Given the description of an element on the screen output the (x, y) to click on. 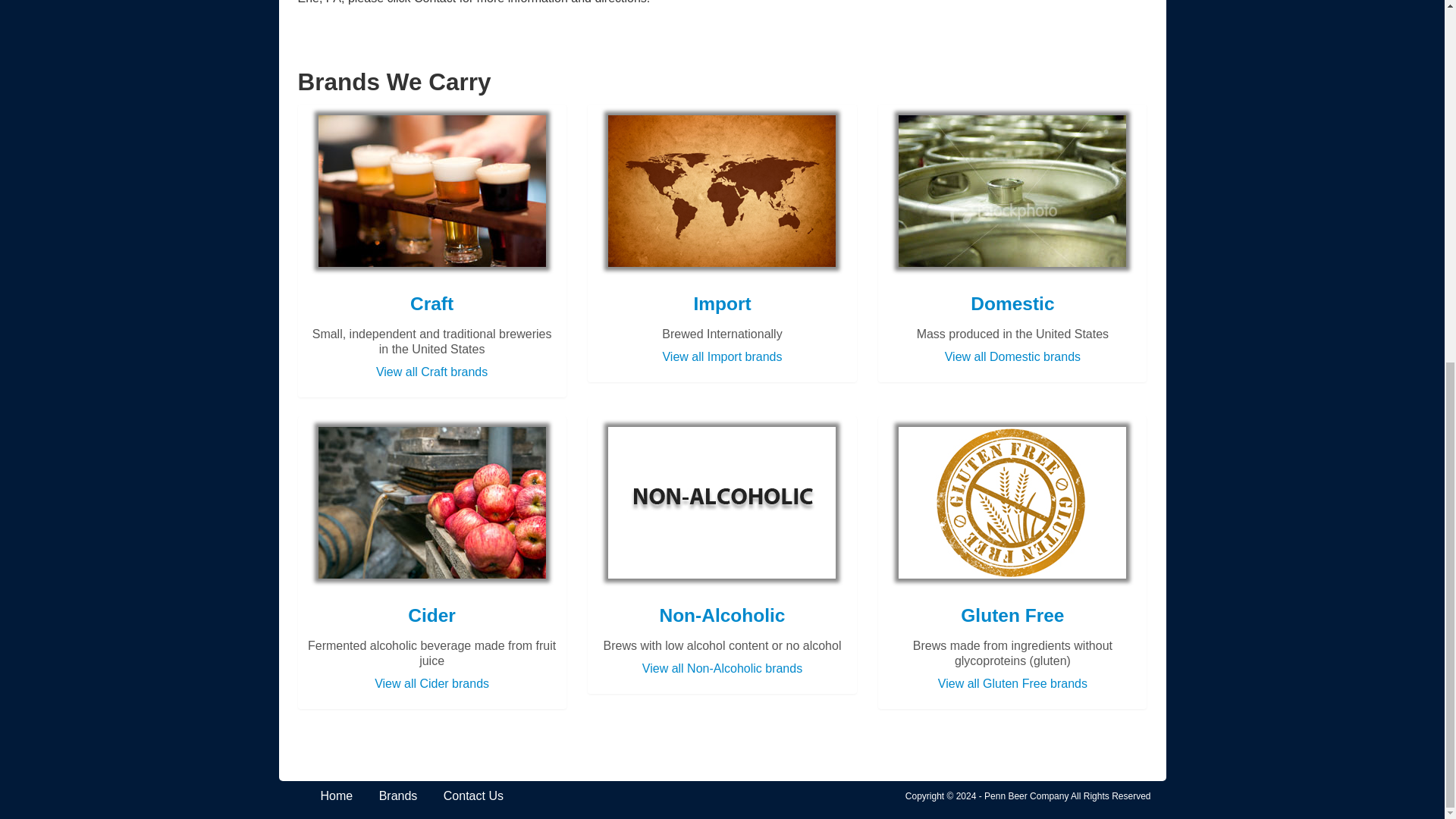
Craft (431, 303)
View all Craft brands (431, 371)
View all Import brands (721, 356)
Non-Alcoholic (721, 615)
Cider (431, 615)
View all Cider brands (431, 683)
View all Domestic brands (1012, 356)
View all Gluten Free brands (1012, 683)
Domestic (1012, 303)
Gluten Free (1012, 615)
